Given the description of an element on the screen output the (x, y) to click on. 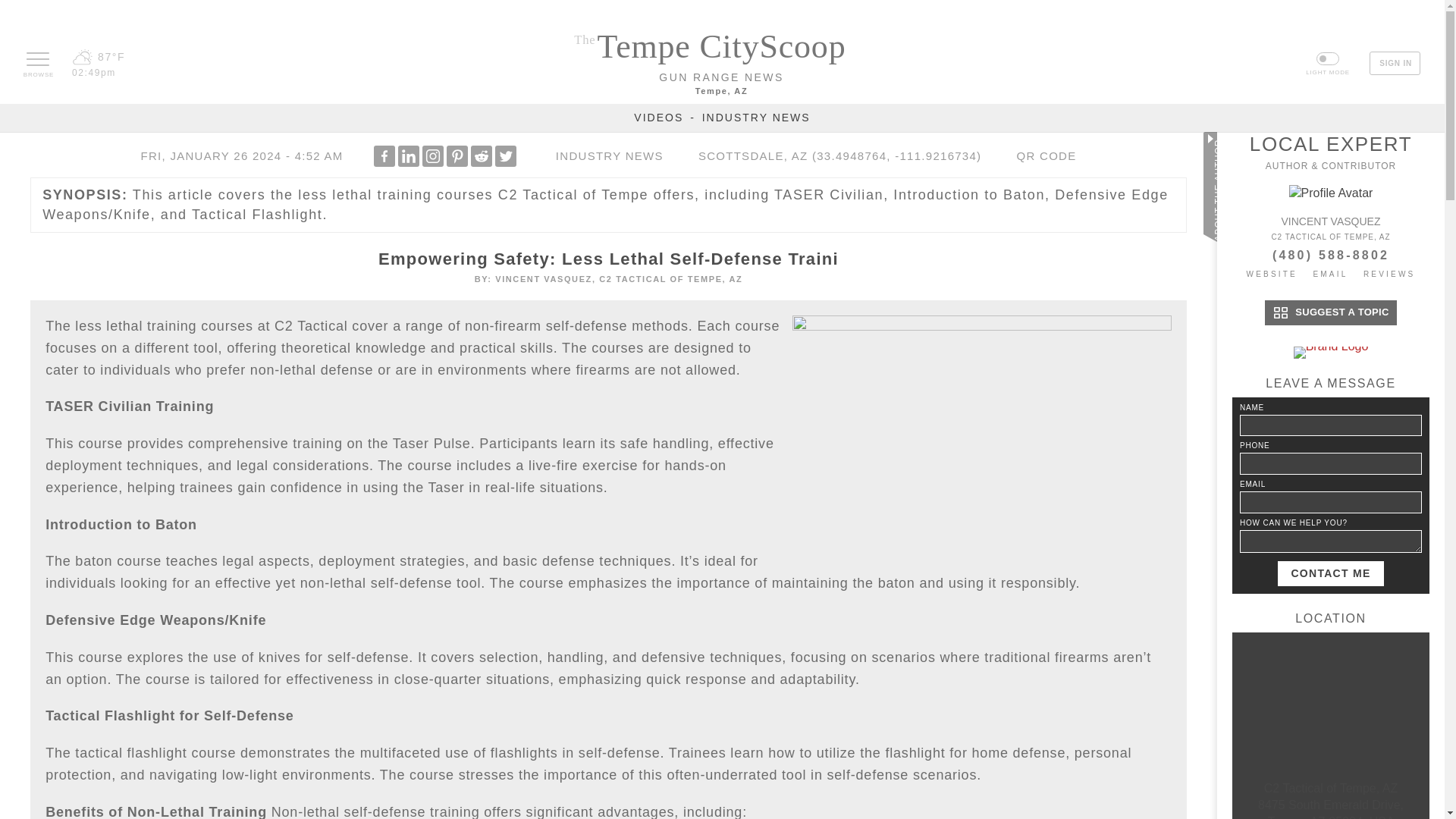
Linkedin (408, 156)
INDUSTRY NEWS (755, 117)
Reddit (481, 156)
Twitter (505, 156)
Pinterest (456, 156)
QR Code (1043, 155)
Facebook (384, 156)
Swith to Light Mode (1327, 63)
Vincent Vasquez (1330, 223)
VIDEOS (657, 117)
